Given the description of an element on the screen output the (x, y) to click on. 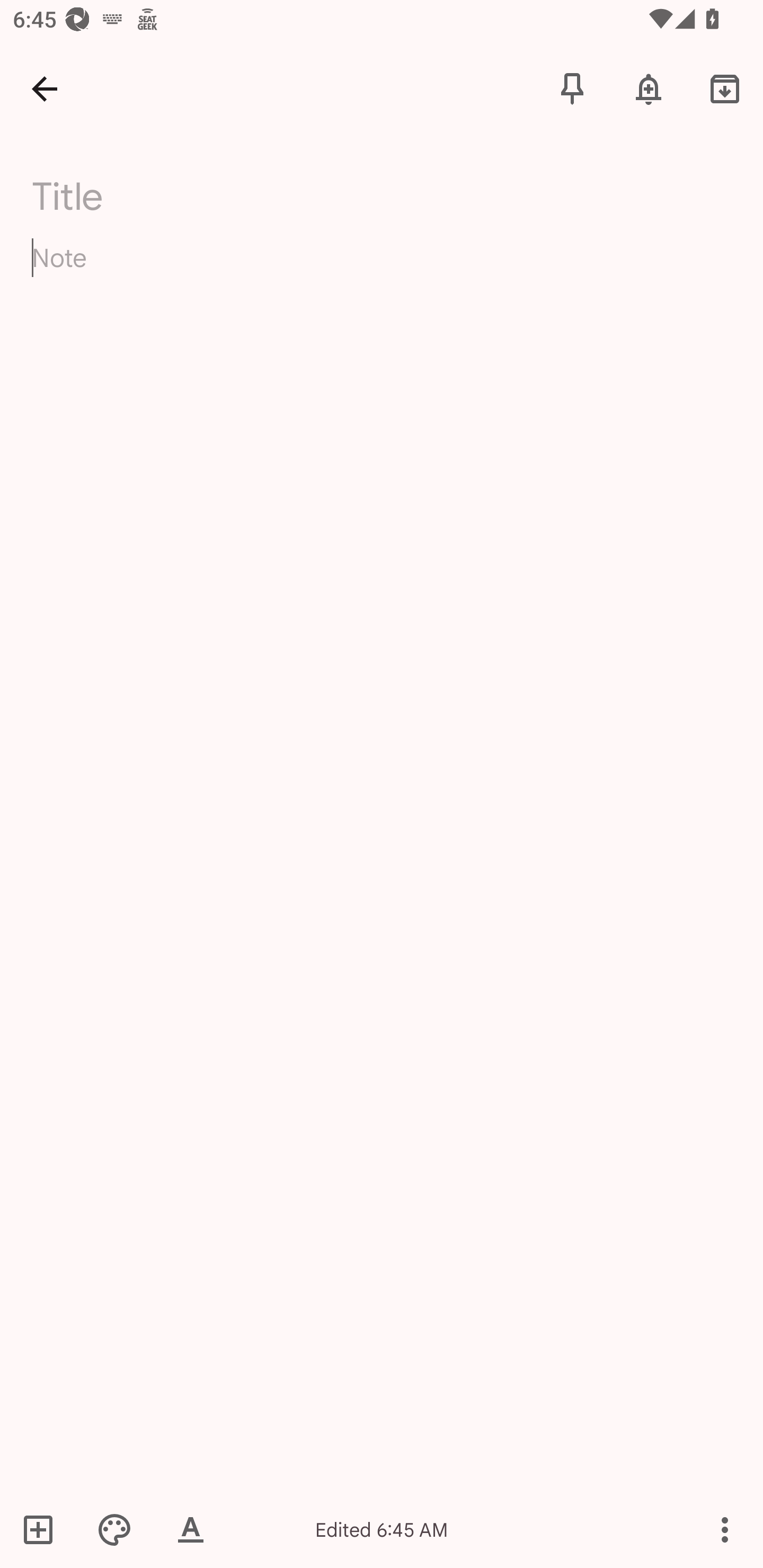
Navigate up (44, 88)
Pin (572, 88)
Reminder (648, 88)
Archive (724, 88)
.  (193, 192)
Note (381, 273)
New list (44, 1529)
Theme (114, 1529)
Show formatting controls (190, 1529)
Action (724, 1529)
